Given the description of an element on the screen output the (x, y) to click on. 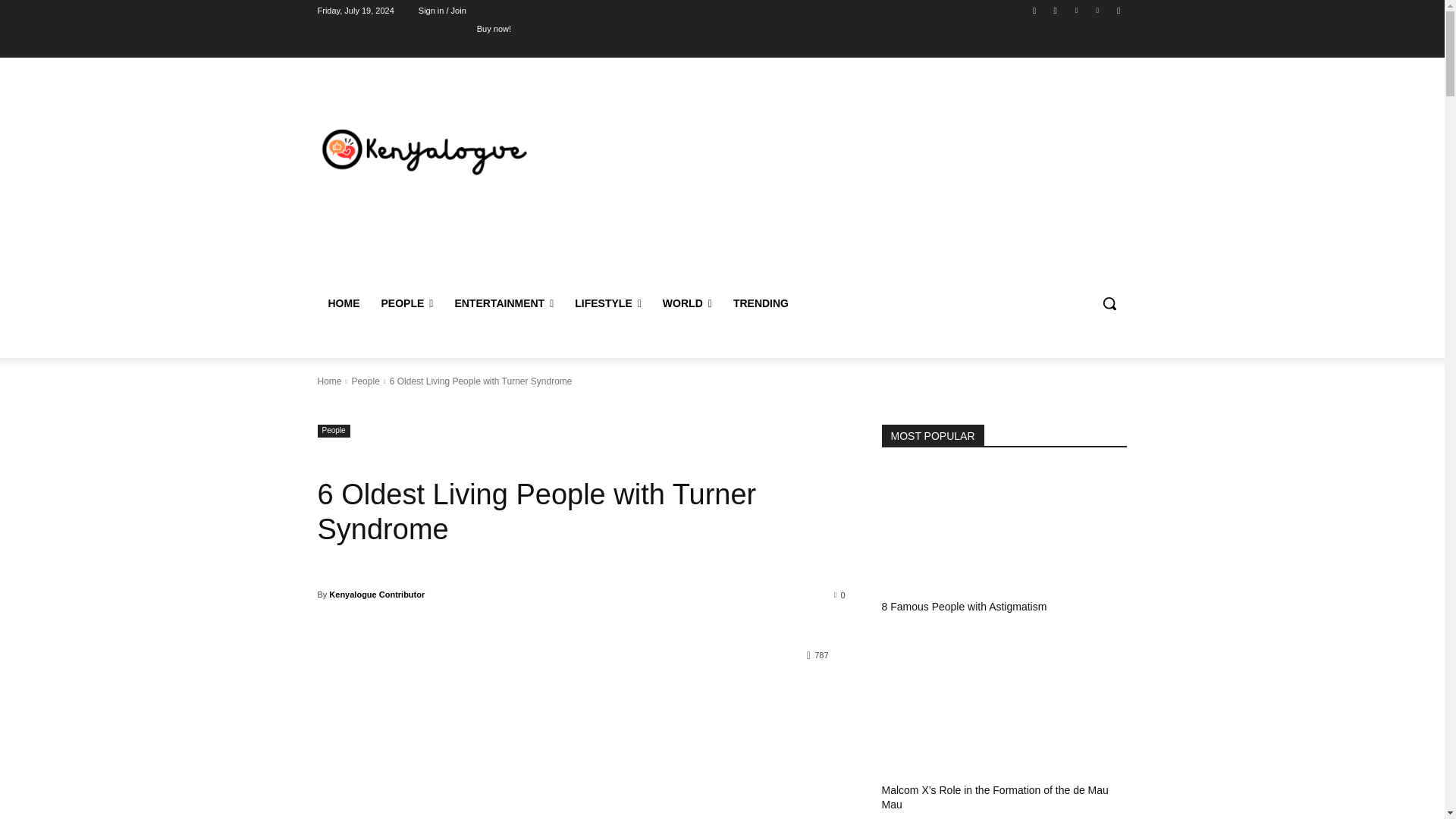
Vimeo (1097, 9)
View all posts in People (364, 380)
Twitter (1075, 9)
Buy now! (494, 28)
Youtube (1117, 9)
Facebook (1034, 9)
Instagram (1055, 9)
